Given the description of an element on the screen output the (x, y) to click on. 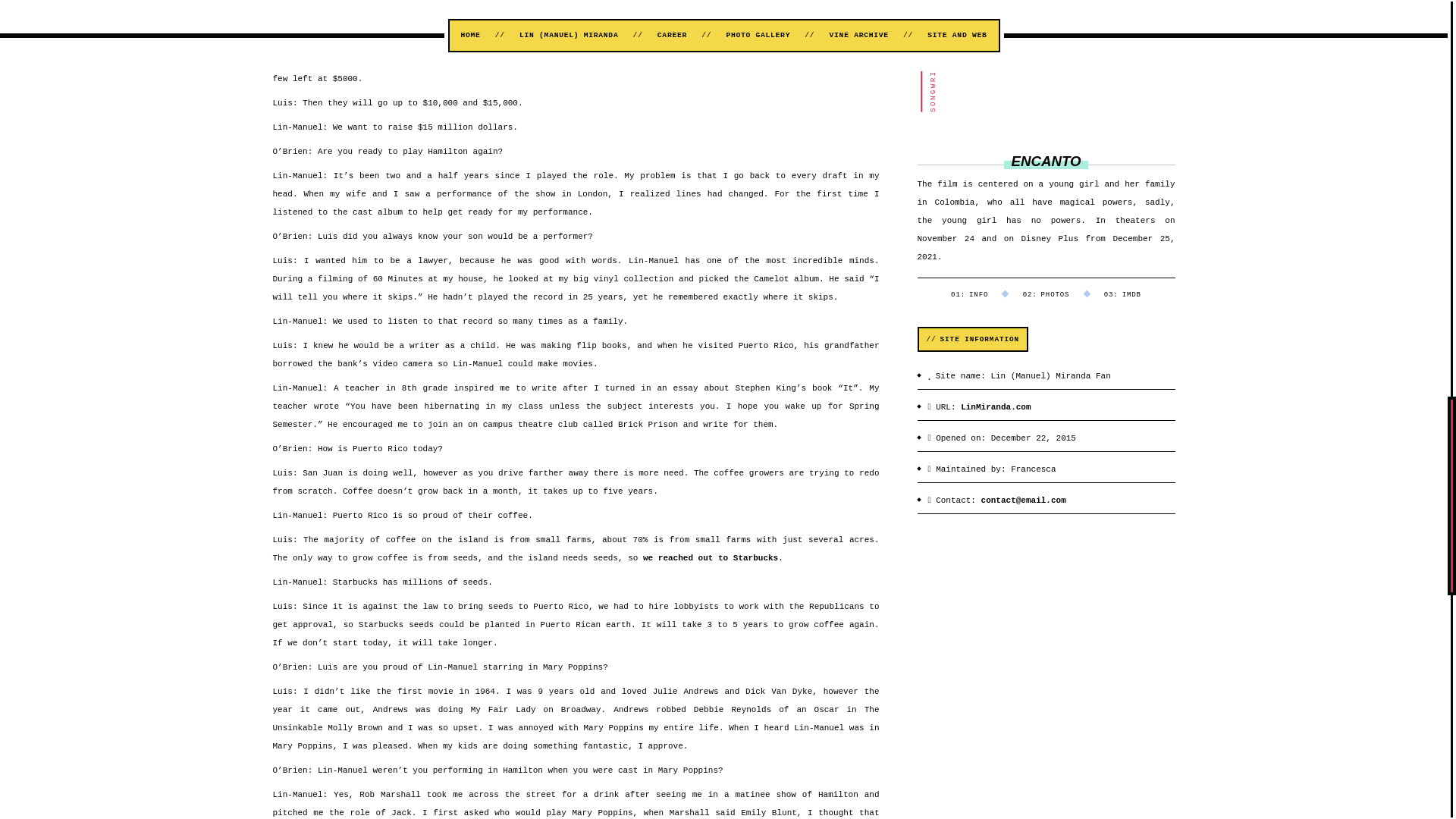
we reached out to Starbucks (710, 557)
